Given the description of an element on the screen output the (x, y) to click on. 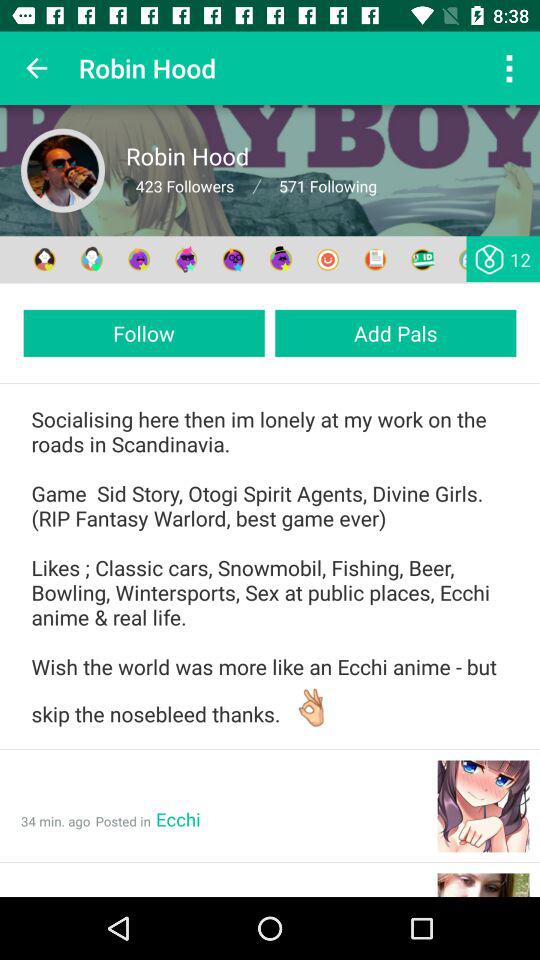
open item next to robin hood item (508, 67)
